Given the description of an element on the screen output the (x, y) to click on. 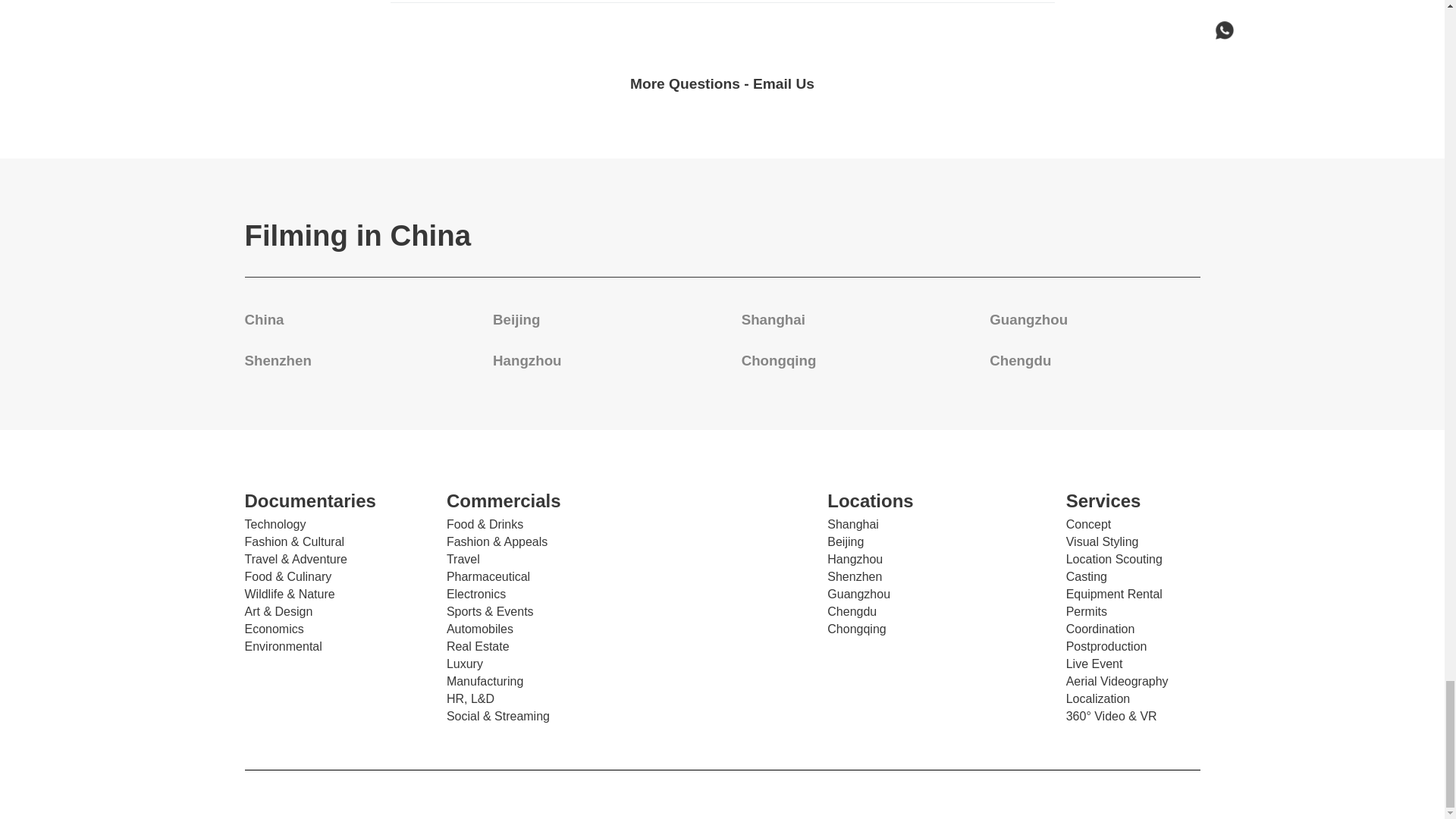
More Questions - Email Us (721, 83)
China Video Production Fixer (263, 319)
Guangzhou Video Production Fixer (1028, 319)
Economics (273, 629)
Technology (274, 524)
Chongqing Video Production Fixer (778, 360)
Beijing (516, 319)
Guangzhou (1028, 319)
Environmental (282, 646)
Hangzhou (526, 360)
